Given the description of an element on the screen output the (x, y) to click on. 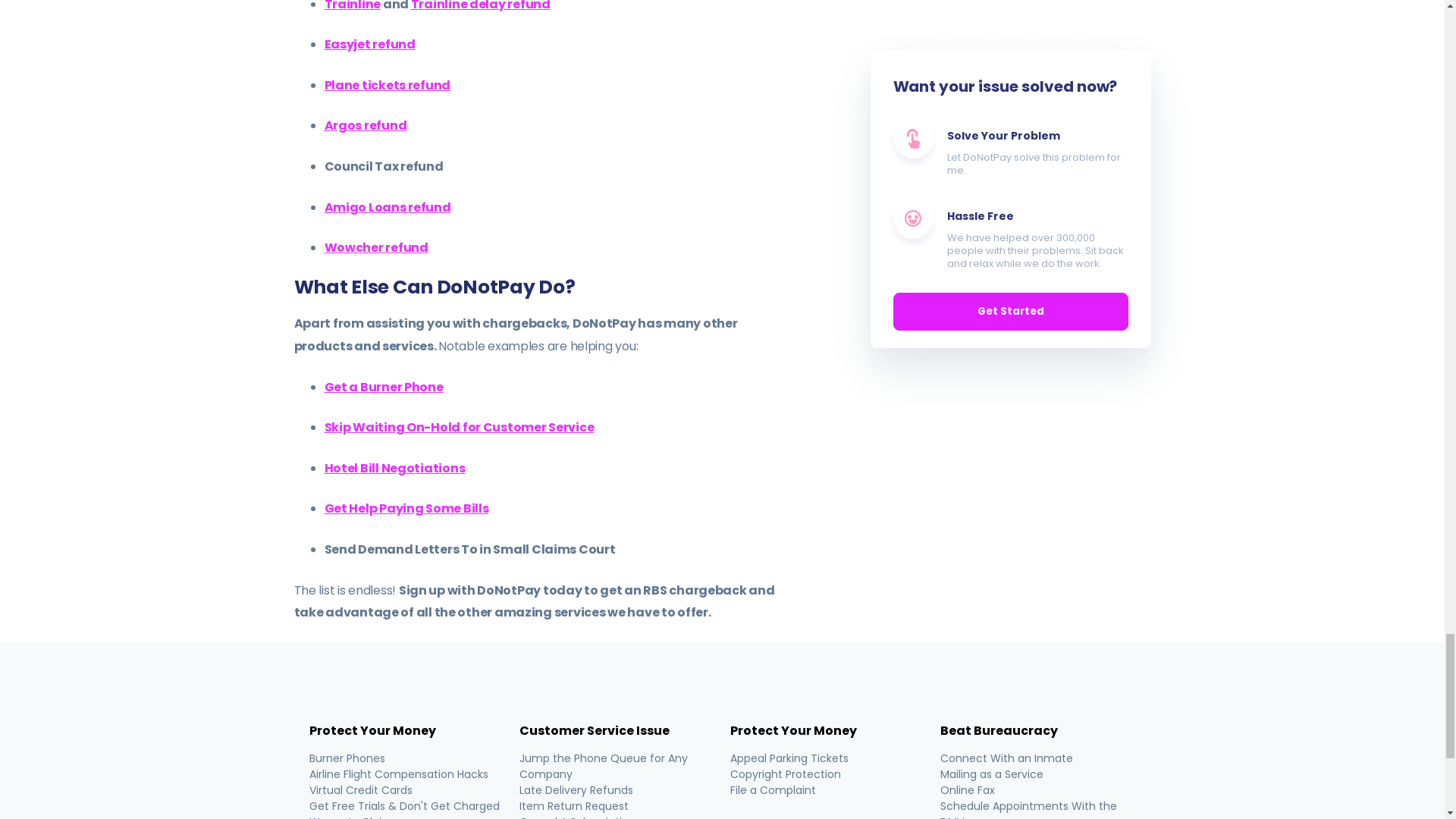
Trainline (352, 6)
